Given the description of an element on the screen output the (x, y) to click on. 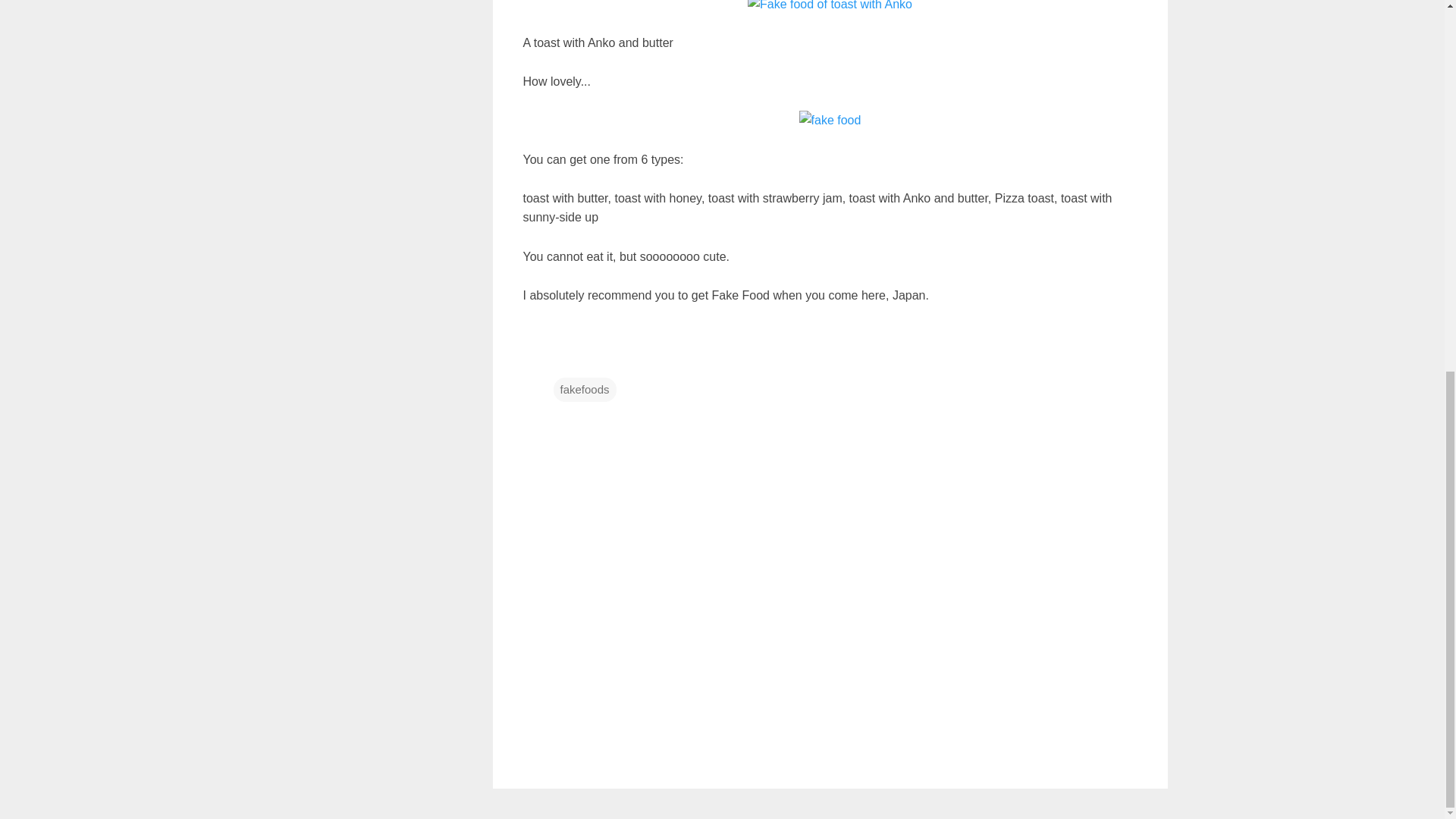
fake food (830, 120)
Fake food (830, 7)
fakefoods (584, 389)
